Given the description of an element on the screen output the (x, y) to click on. 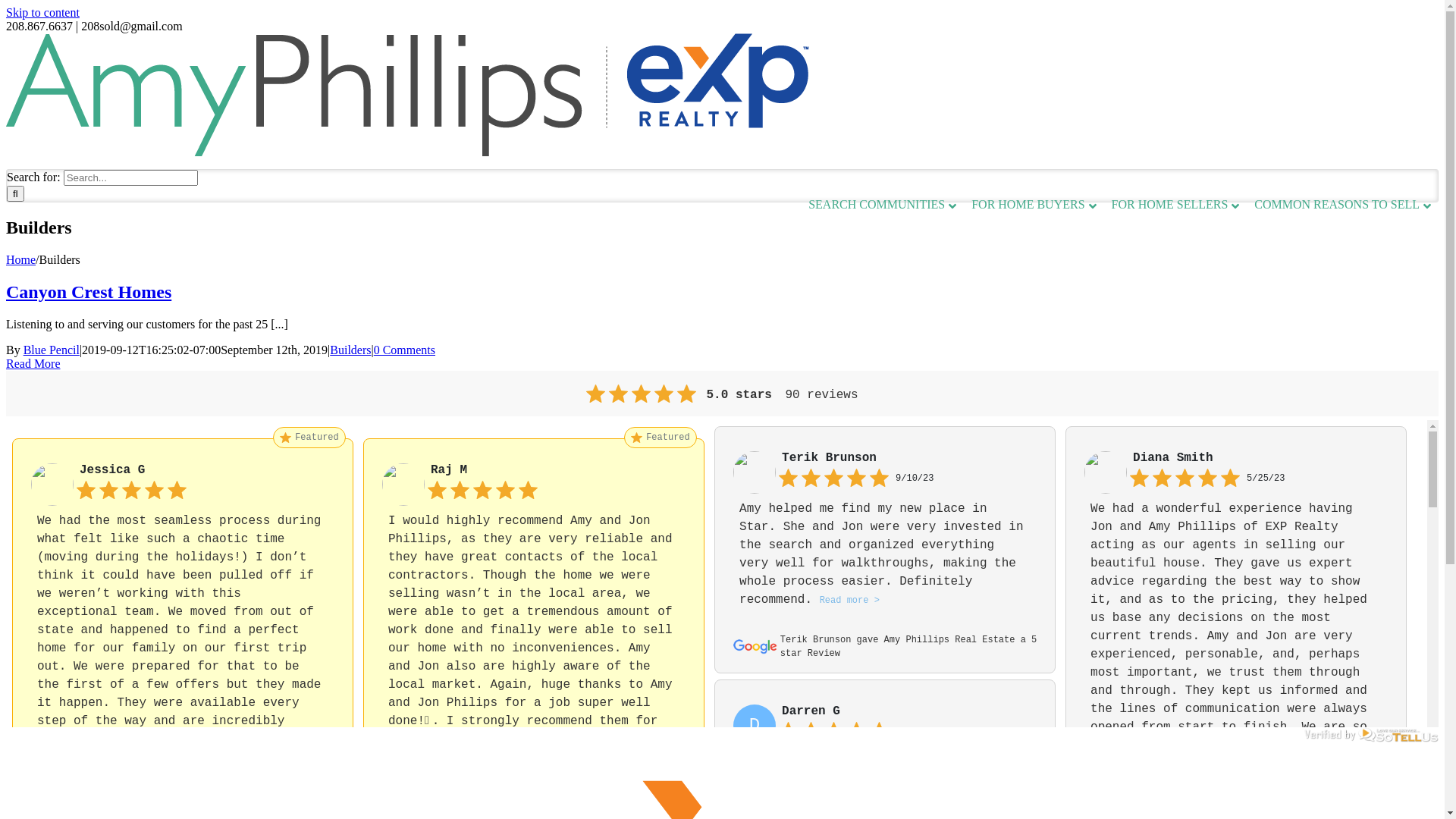
TESTIMONIALS Element type: text (1339, 50)
COMMON REASONS TO SELL Element type: text (1342, 204)
SEARCH COMMUNITIES Element type: text (881, 204)
2021 RELOCATION MAGAZINE Element type: text (1164, 50)
MEET AMY Element type: text (1267, 50)
Blue Pencil Element type: text (51, 349)
Home Element type: text (20, 259)
FOR HOME BUYERS Element type: text (1033, 204)
Canyon Crest Homes Element type: text (88, 291)
HOME Element type: text (1071, 50)
FOR HOME SELLERS Element type: text (1175, 204)
0 Comments Element type: text (404, 349)
Skip to content Element type: text (42, 12)
Read More Element type: text (33, 363)
CONTACT Element type: text (1409, 50)
Builders Element type: text (349, 349)
